Given the description of an element on the screen output the (x, y) to click on. 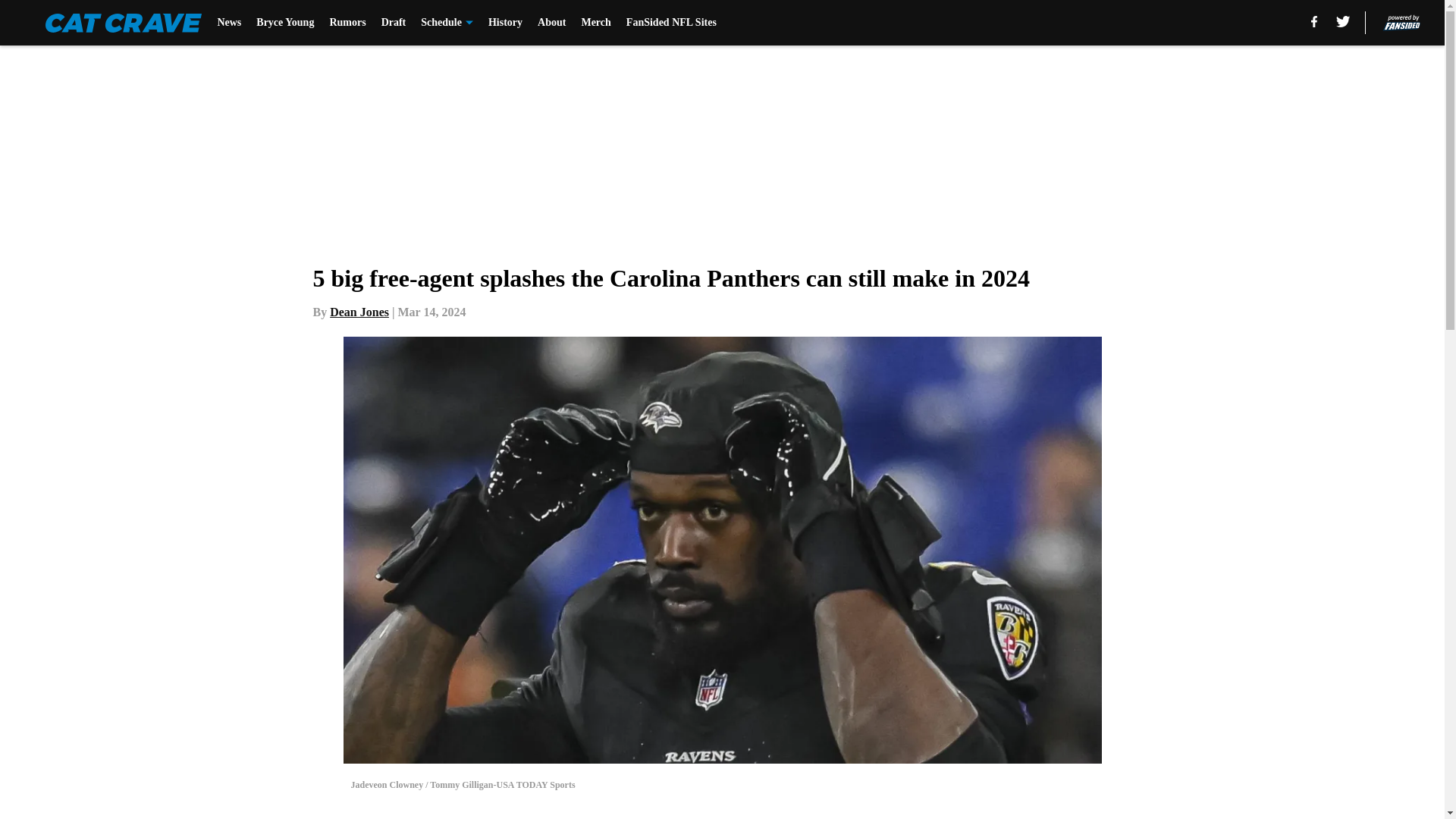
Bryce Young (285, 22)
Draft (393, 22)
FanSided NFL Sites (671, 22)
About (551, 22)
Rumors (347, 22)
Dean Jones (359, 311)
News (228, 22)
Merch (595, 22)
History (504, 22)
